Given the description of an element on the screen output the (x, y) to click on. 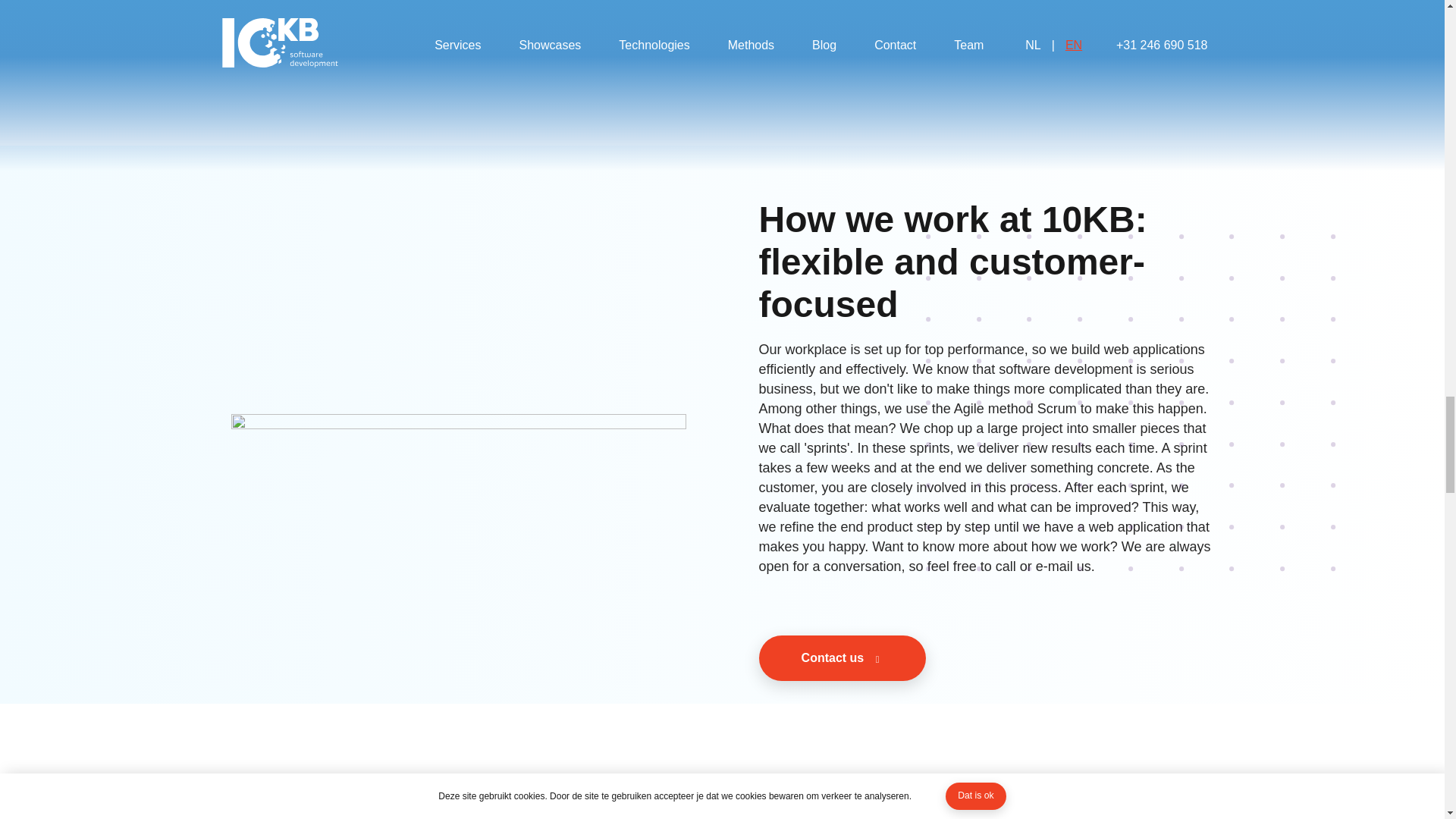
Contact us (841, 657)
Contact us (985, 657)
